Given the description of an element on the screen output the (x, y) to click on. 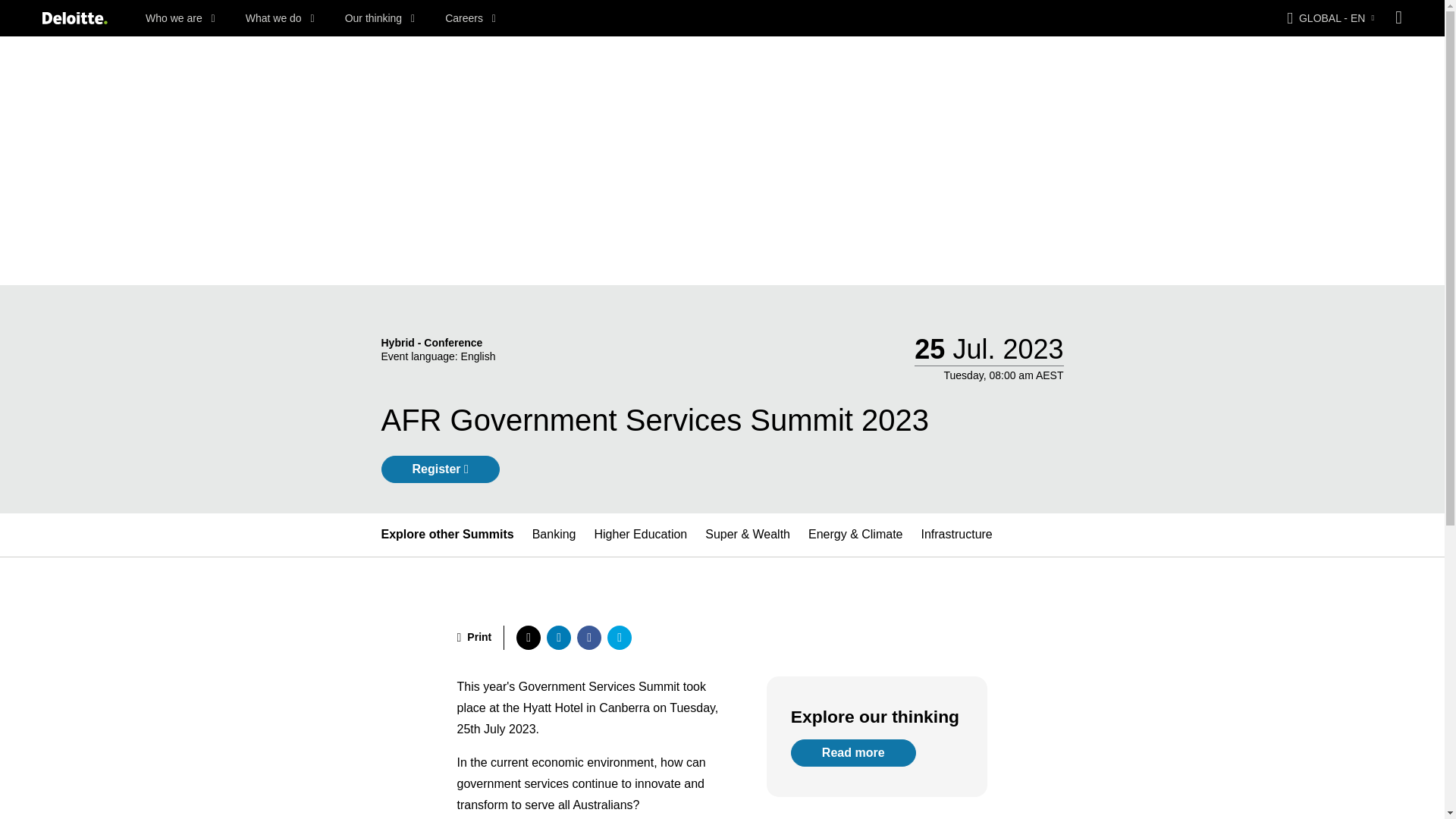
share via facebook (588, 636)
Deloitte (74, 18)
Careers (470, 18)
Print (474, 636)
What we do (280, 18)
share via linkedin (558, 636)
Our thinking (379, 18)
Who we are (180, 18)
share via twitter (528, 636)
share via email (619, 636)
